Given the description of an element on the screen output the (x, y) to click on. 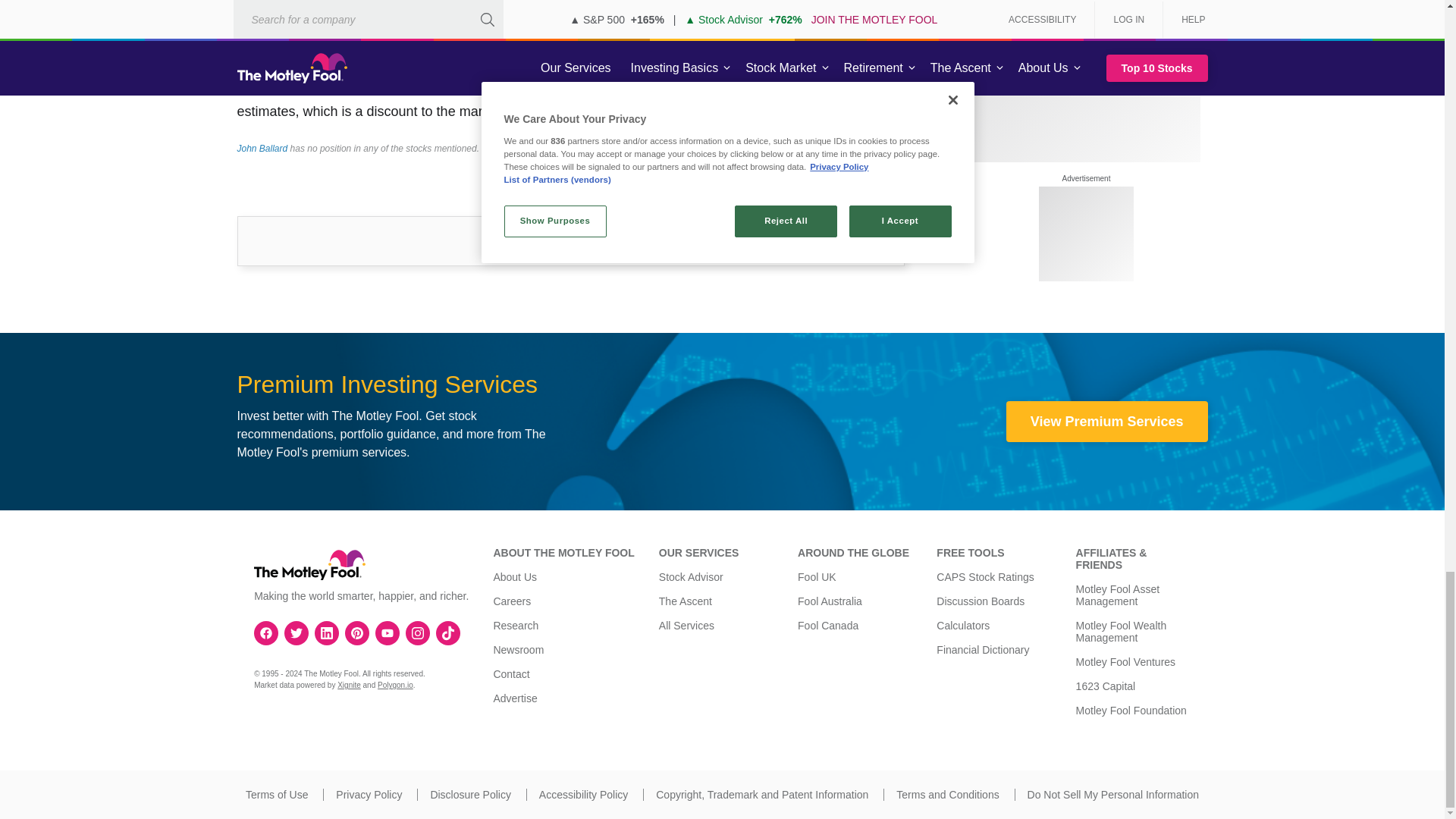
Accessibility Policy (582, 794)
Terms of Use (276, 794)
Copyright, Trademark and Patent Information (761, 794)
Privacy Policy (368, 794)
Terms and Conditions (947, 794)
Do Not Sell My Personal Information. (1112, 794)
Disclosure Policy (470, 794)
